Given the description of an element on the screen output the (x, y) to click on. 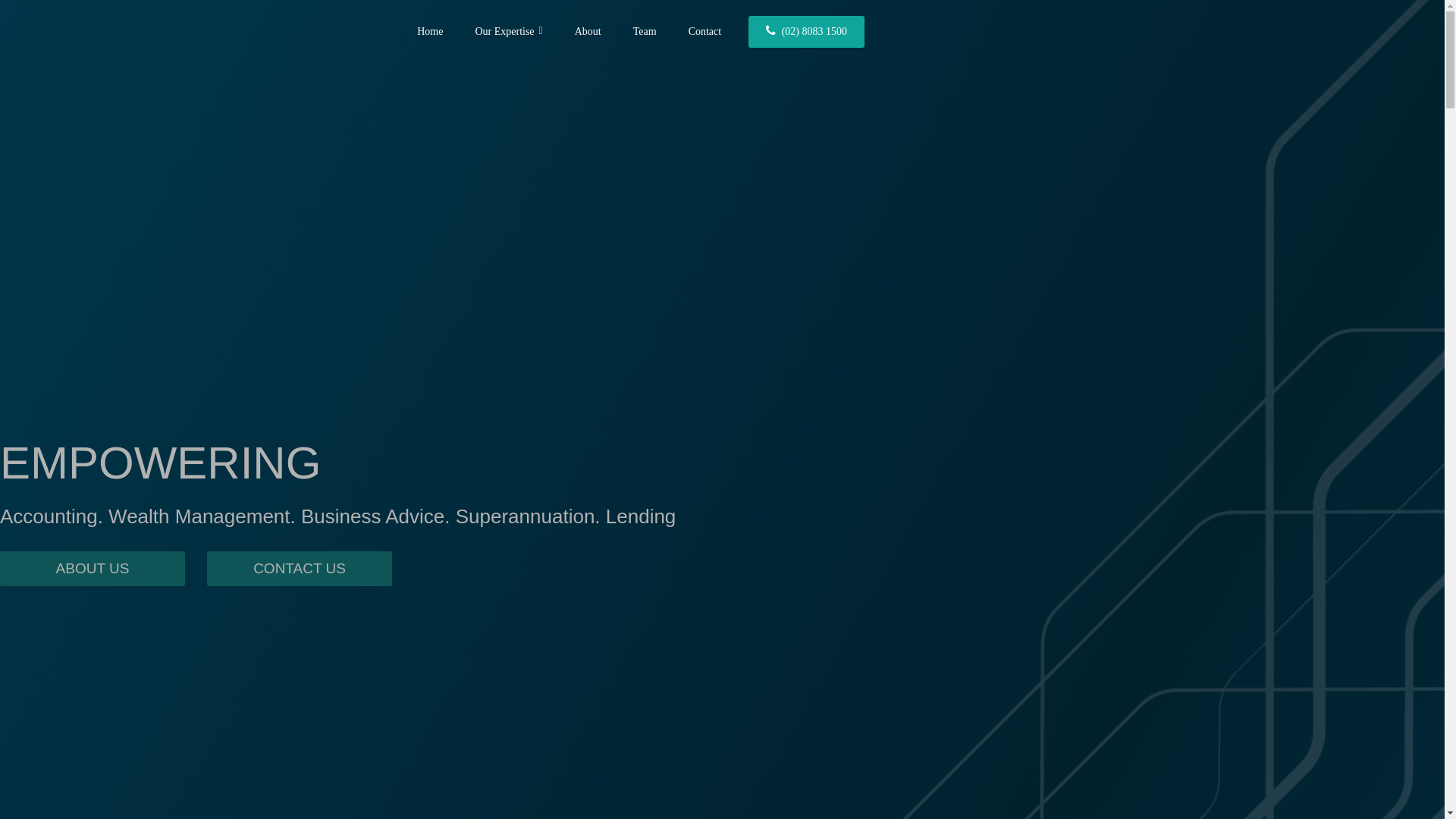
Team Element type: text (644, 31)
Our Expertise Element type: text (508, 31)
Contact Element type: text (705, 31)
About Element type: text (587, 31)
(02) 8083 1500 Element type: text (806, 31)
Home Element type: text (429, 31)
ABOUT US Element type: text (92, 567)
CONTACT US Element type: text (299, 567)
